Given the description of an element on the screen output the (x, y) to click on. 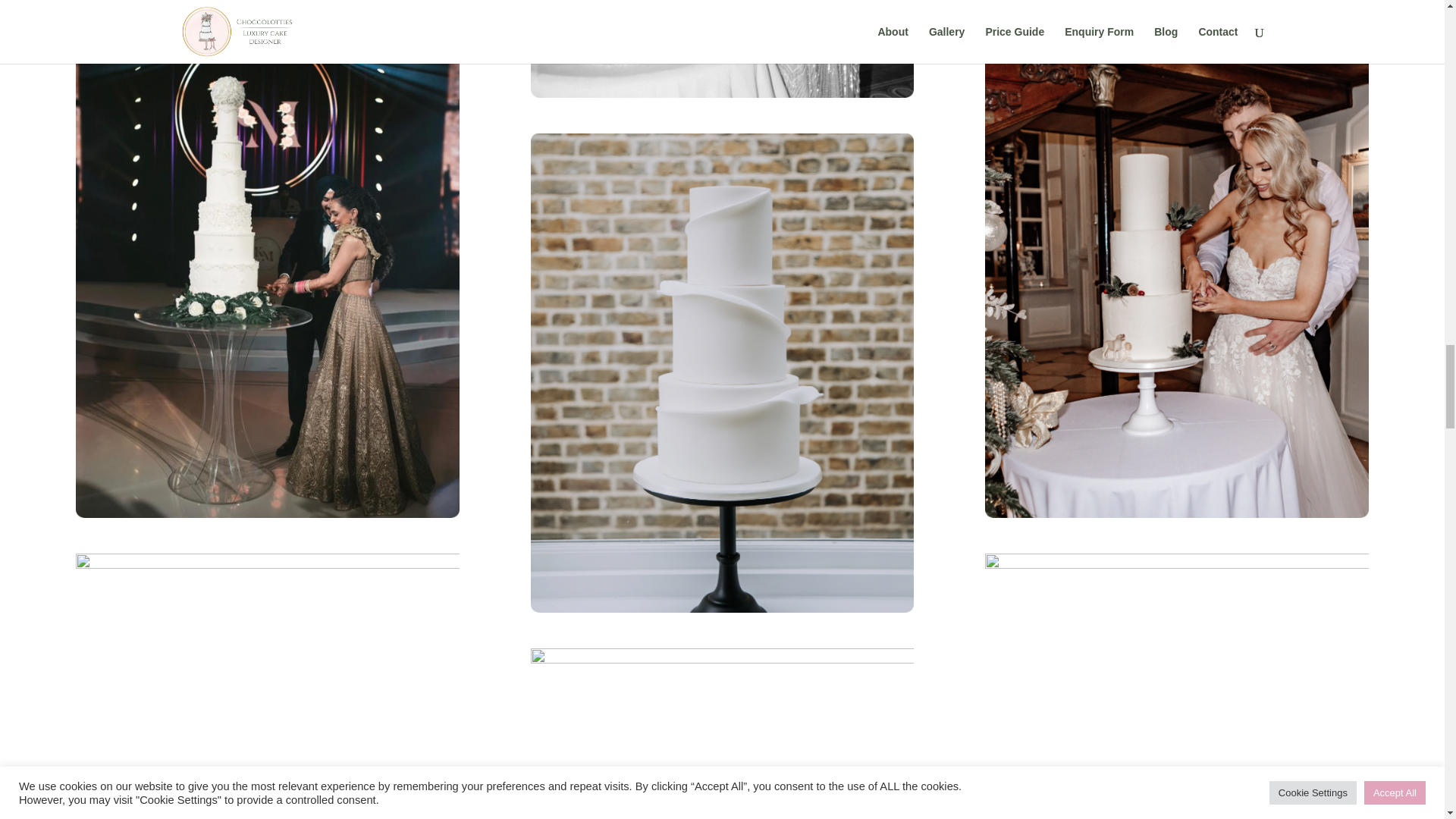
AD359492-81FC-477D-94EA-3F0AD299EE00 (267, 686)
DFA54E63-E45D-4DC2-A02B-207D59BFCC2C (722, 733)
64804E7E-A6FF-4754-859B-526BB8E3E718 (1176, 686)
